Given the description of an element on the screen output the (x, y) to click on. 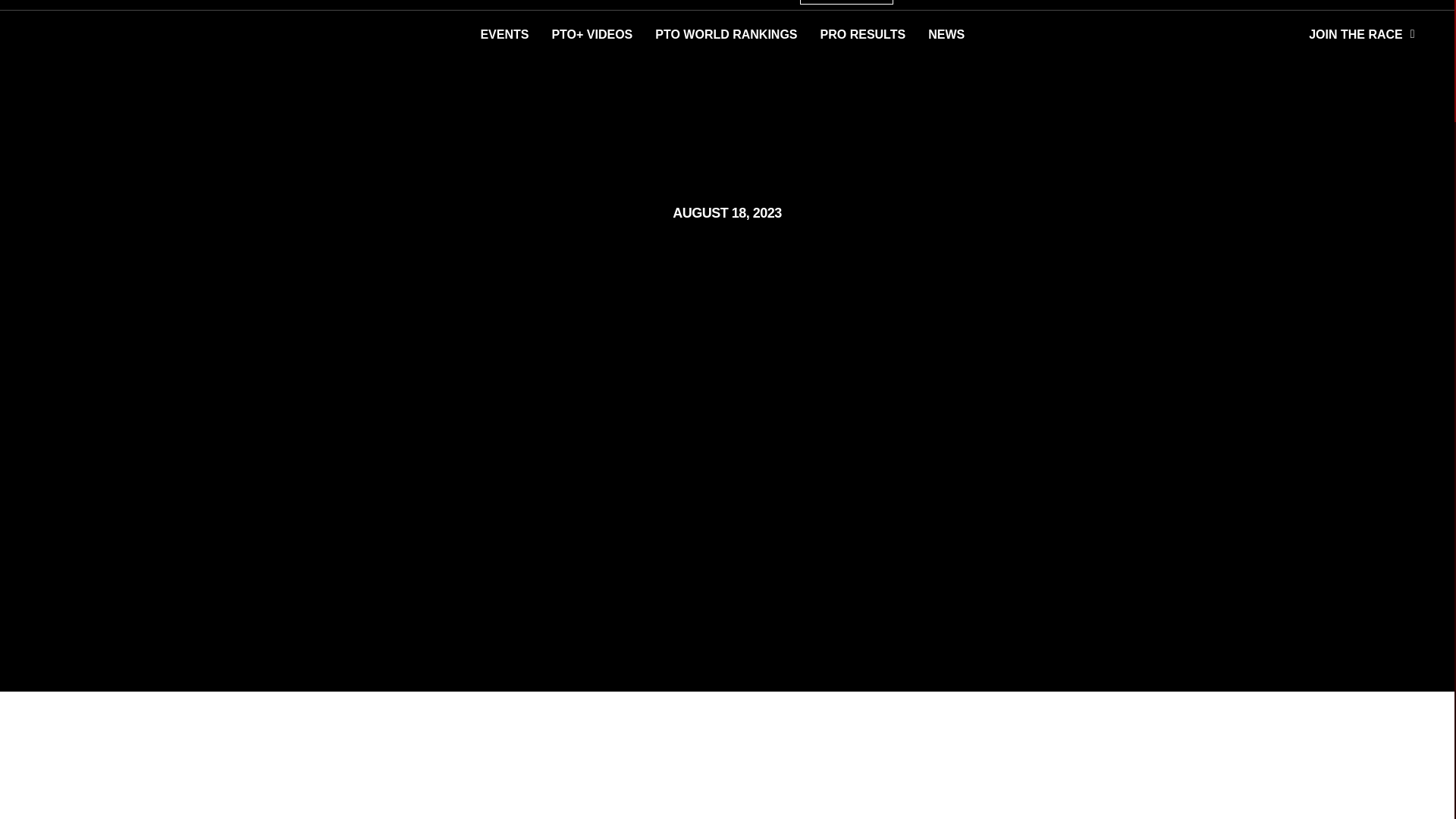
EVENTS (504, 34)
WATCH NOW (846, 2)
JOIN OUR NEWSLETTER (1278, 4)
ABOUT THE PTO (1385, 4)
